Given the description of an element on the screen output the (x, y) to click on. 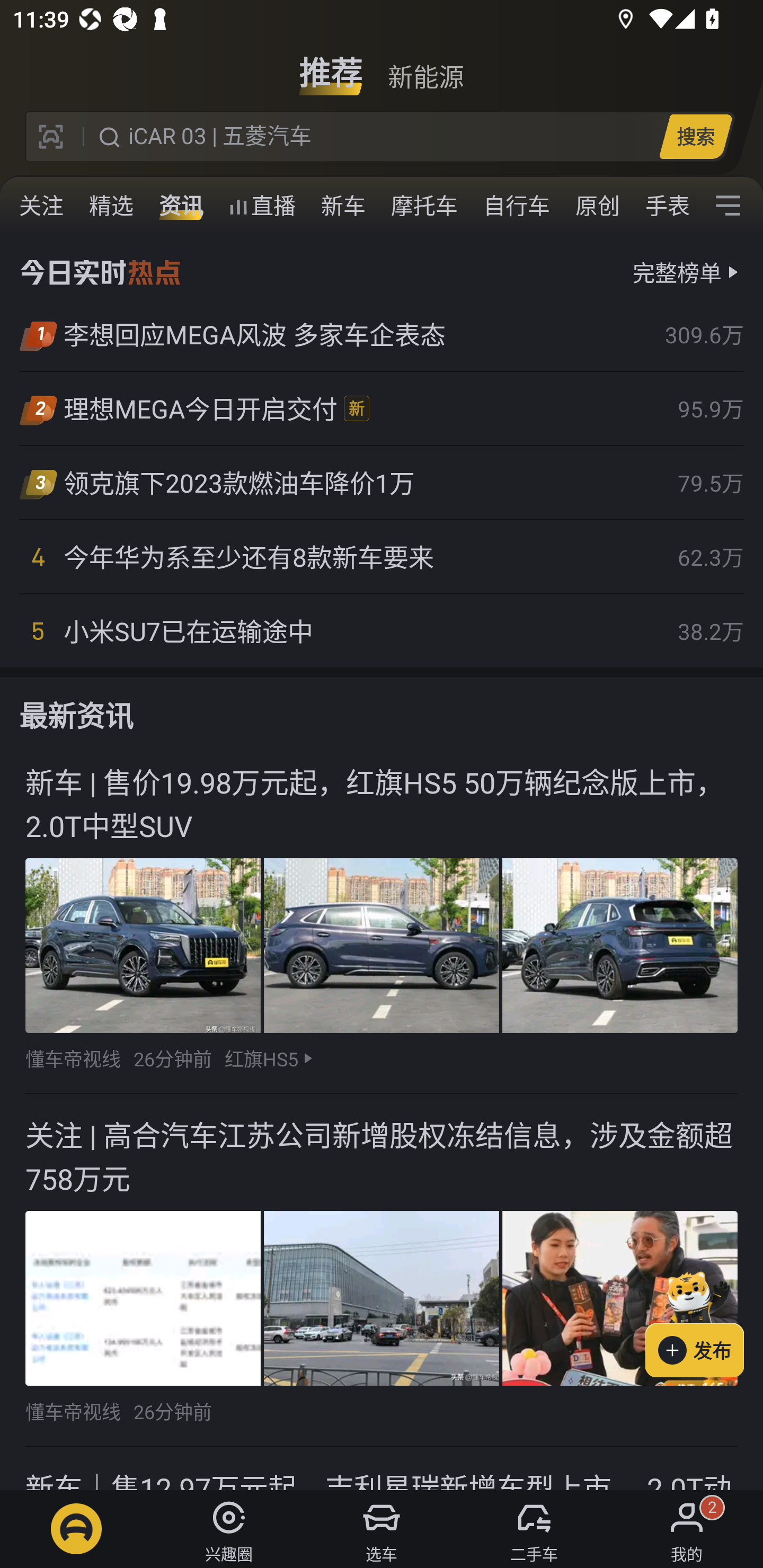
推荐 (330, 65)
新能源 (425, 65)
搜索 (695, 136)
关注 (41, 205)
精选 (111, 205)
资讯 (180, 205)
直播 (261, 205)
新车 (343, 205)
摩托车 (424, 205)
自行车 (516, 205)
原创 (597, 205)
手表 (663, 205)
 (727, 205)
完整榜单 (676, 271)
李想回应MEGA风波 多家车企表态  309.6万 (381, 334)
理想MEGA今日开启交付 新  95.9万 (381, 408)
领克旗下2023款燃油车降价1万  79.5万 (381, 482)
4 今年华为系至少还有8款新车要来  62.3万 (381, 557)
5 小米SU7已在运输途中  38.2万 (381, 630)
红旗HS5 (261, 1057)
关注 | 高合汽车江苏公司新增股权冻结信息，涉及金额超758万元 懂车帝视线 26分钟前 (381, 1270)
发布 (704, 1320)
 兴趣圈 (228, 1528)
 选车 (381, 1528)
 二手车 (533, 1528)
 我的 (686, 1528)
